Given the description of an element on the screen output the (x, y) to click on. 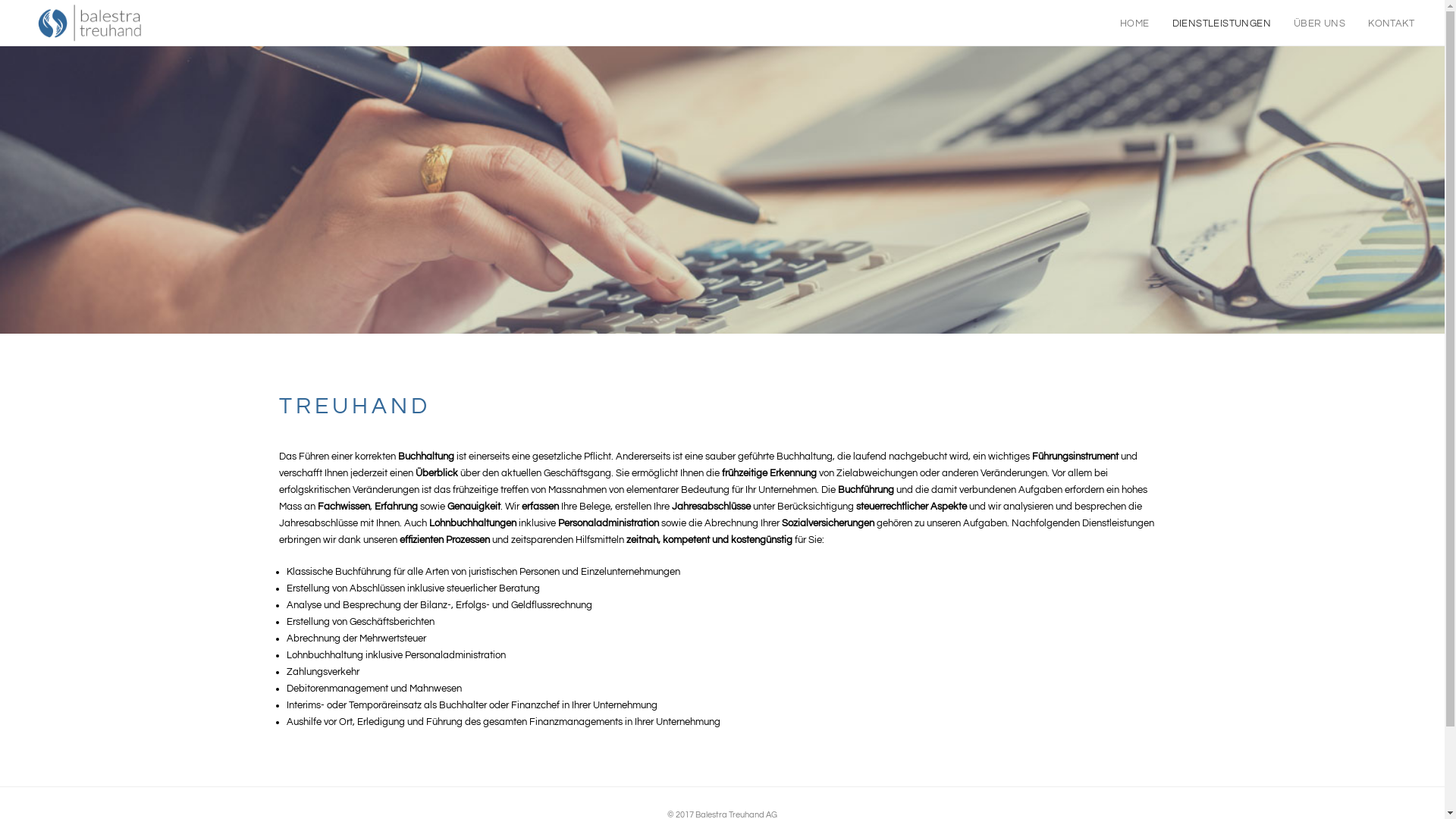
DIENSTLEISTUNGEN Element type: text (1221, 23)
HOME Element type: text (1134, 23)
KONTAKT Element type: text (1391, 23)
